Given the description of an element on the screen output the (x, y) to click on. 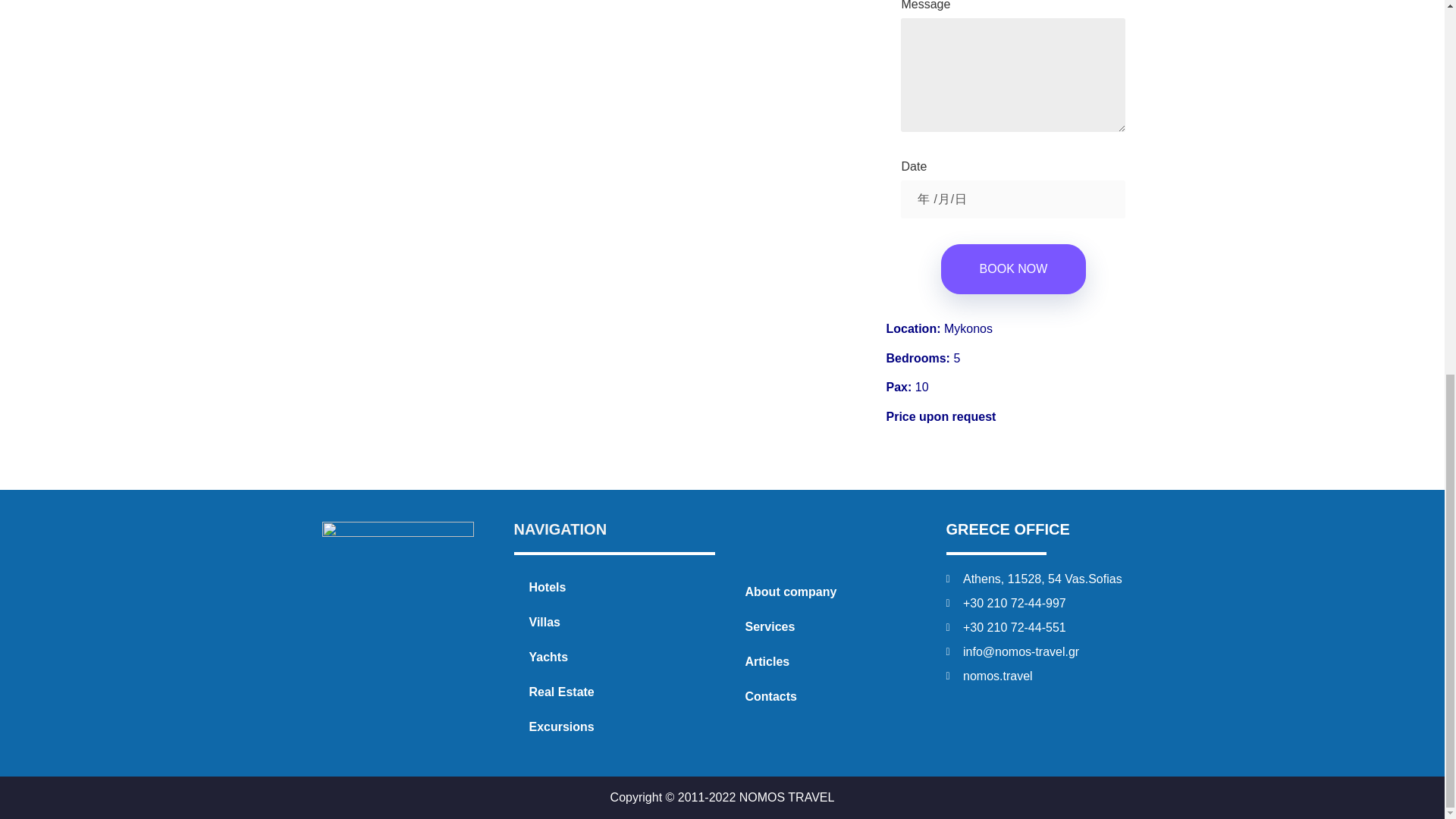
BOOK NOW (1013, 269)
Excursions (613, 727)
Real Estate (613, 692)
Villas (613, 622)
Yachts (613, 656)
Hotels (613, 587)
BOOK NOW (1013, 269)
Contacts (829, 696)
Services (829, 626)
About company (829, 591)
